Given the description of an element on the screen output the (x, y) to click on. 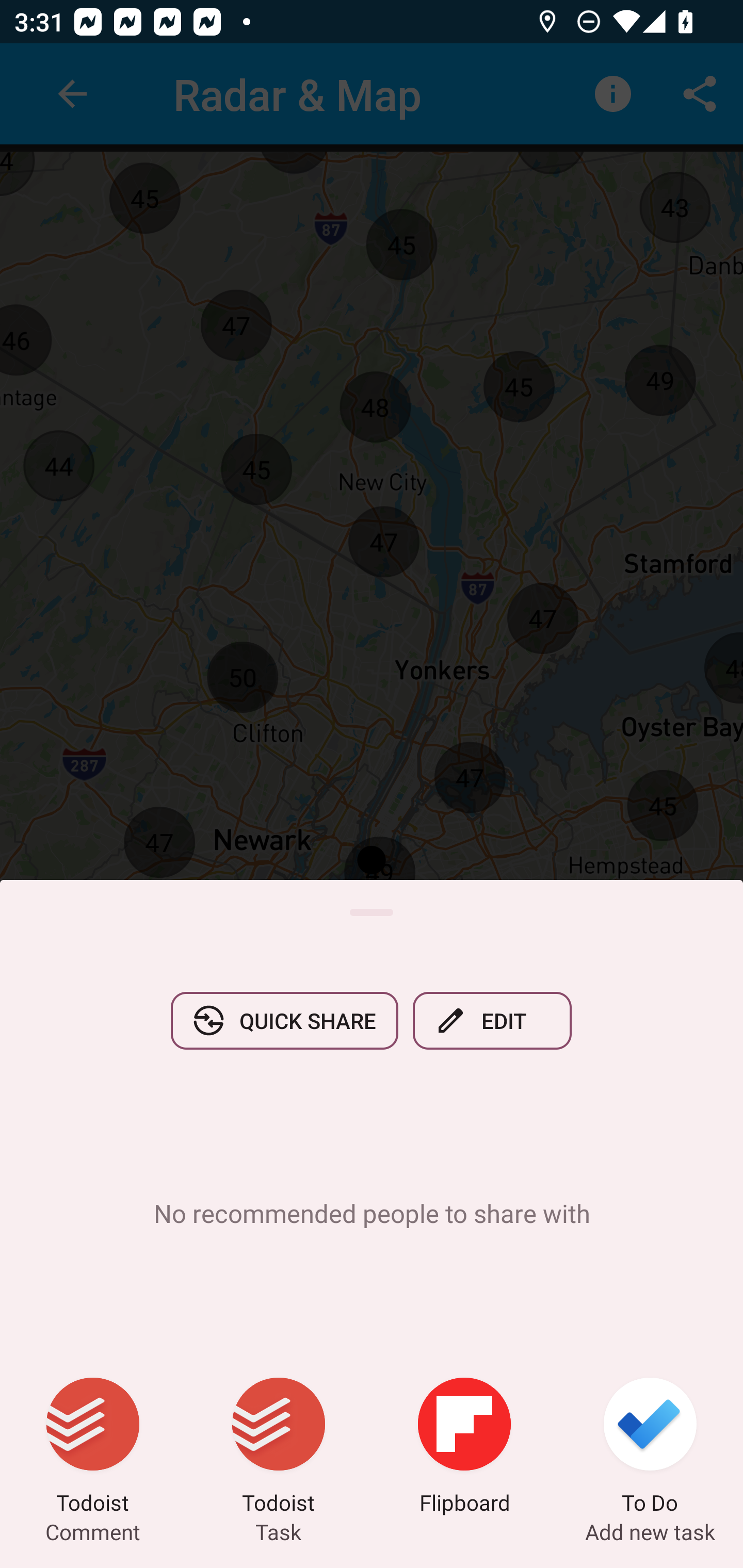
QUICK SHARE (284, 1020)
EDIT (492, 1020)
Todoist Comment (92, 1448)
Todoist Task (278, 1448)
Flipboard (464, 1448)
To Do Add new task (650, 1448)
